Given the description of an element on the screen output the (x, y) to click on. 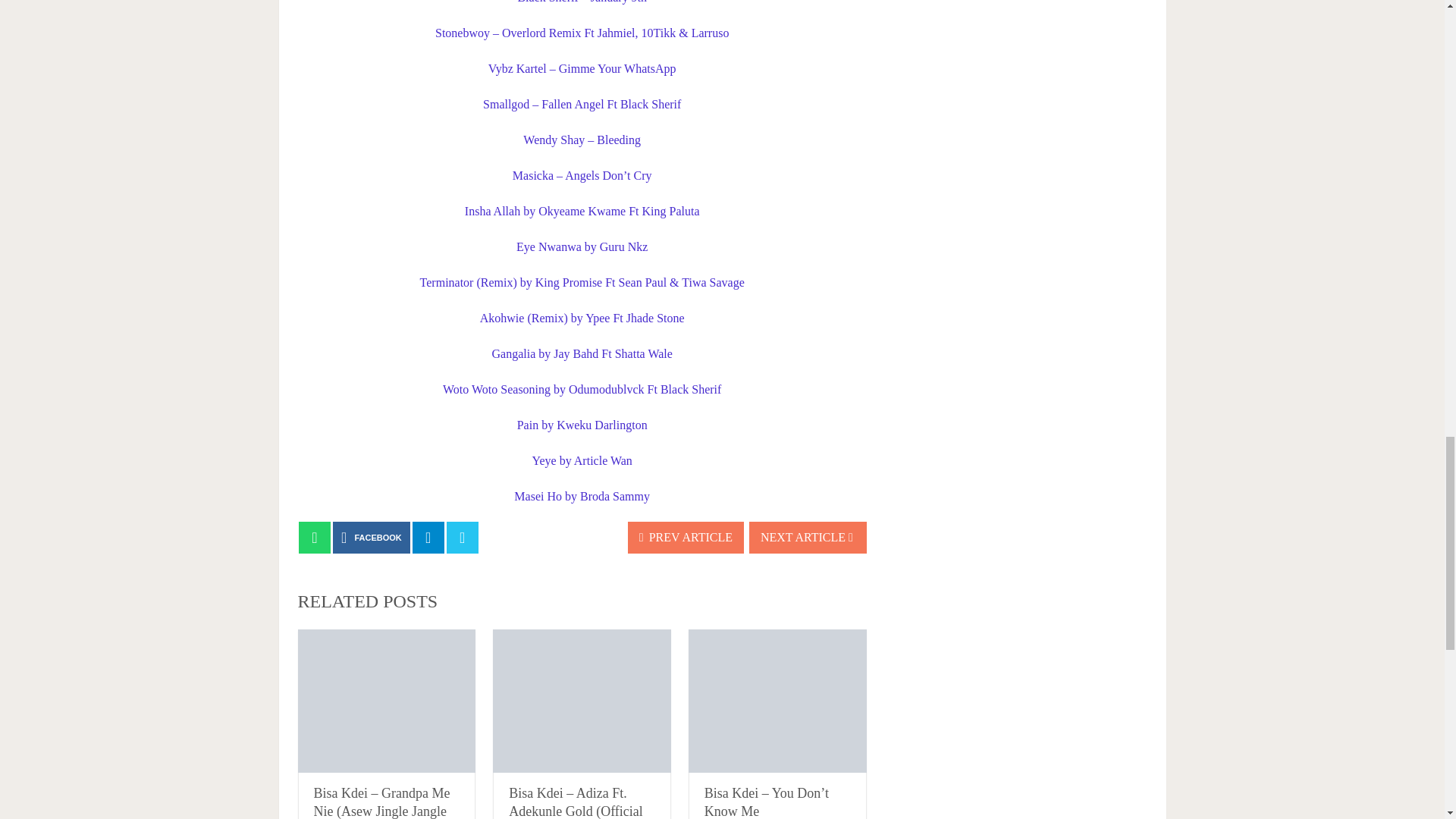
Yeye by Article Wan (581, 460)
Woto Woto Seasoning by Odumodublvck Ft Black Sherif (581, 389)
Gangalia by Jay Bahd Ft Shatta Wale (581, 353)
FACEBOOK (371, 537)
Pain by Kweku Darlington (581, 424)
Masei Ho by Broda Sammy (581, 495)
Insha Allah by Okyeame Kwame Ft King Paluta (582, 210)
Eye Nwanwa by Guru Nkz (581, 246)
